Given the description of an element on the screen output the (x, y) to click on. 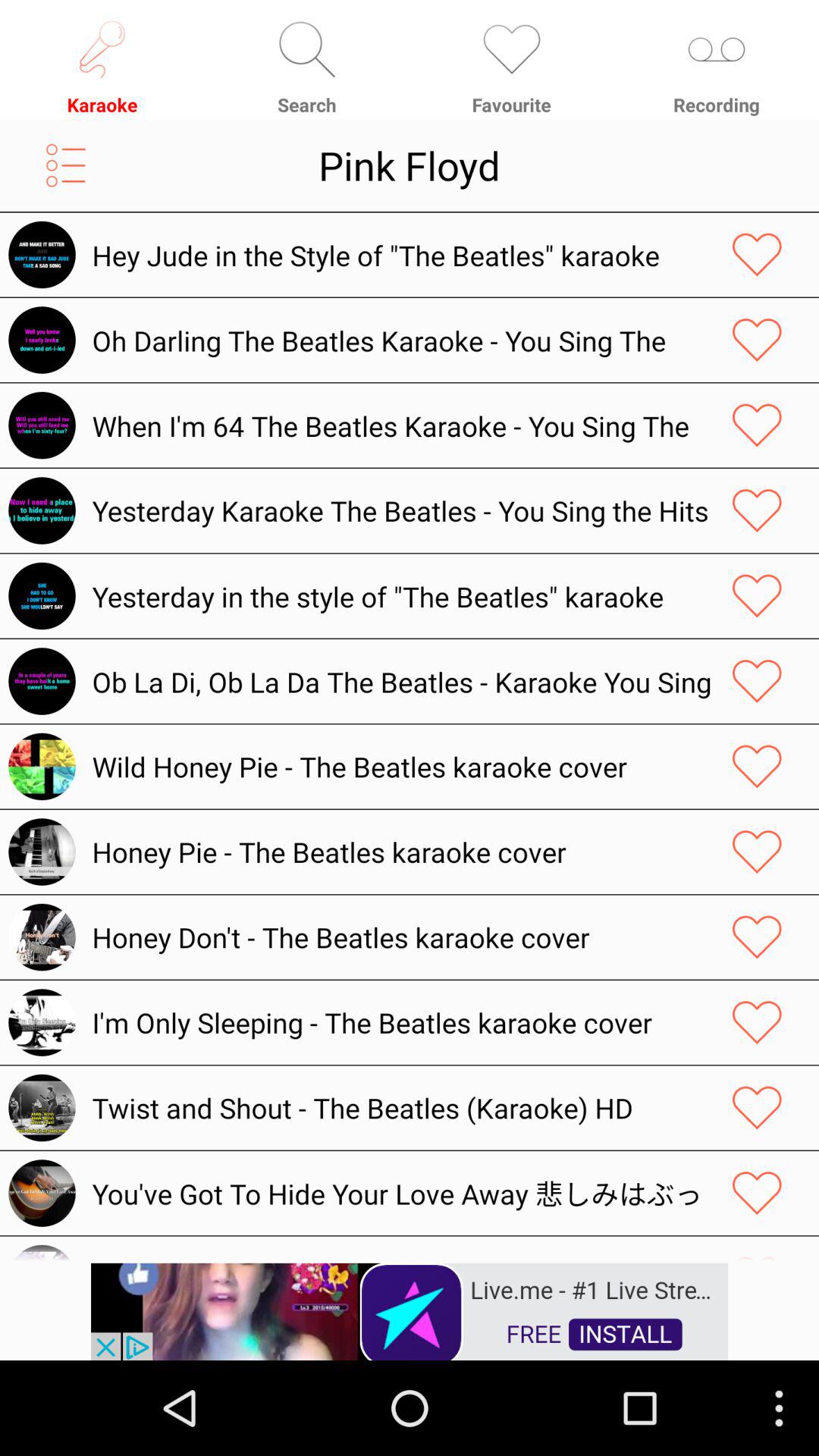
favorite this song (756, 595)
